Given the description of an element on the screen output the (x, y) to click on. 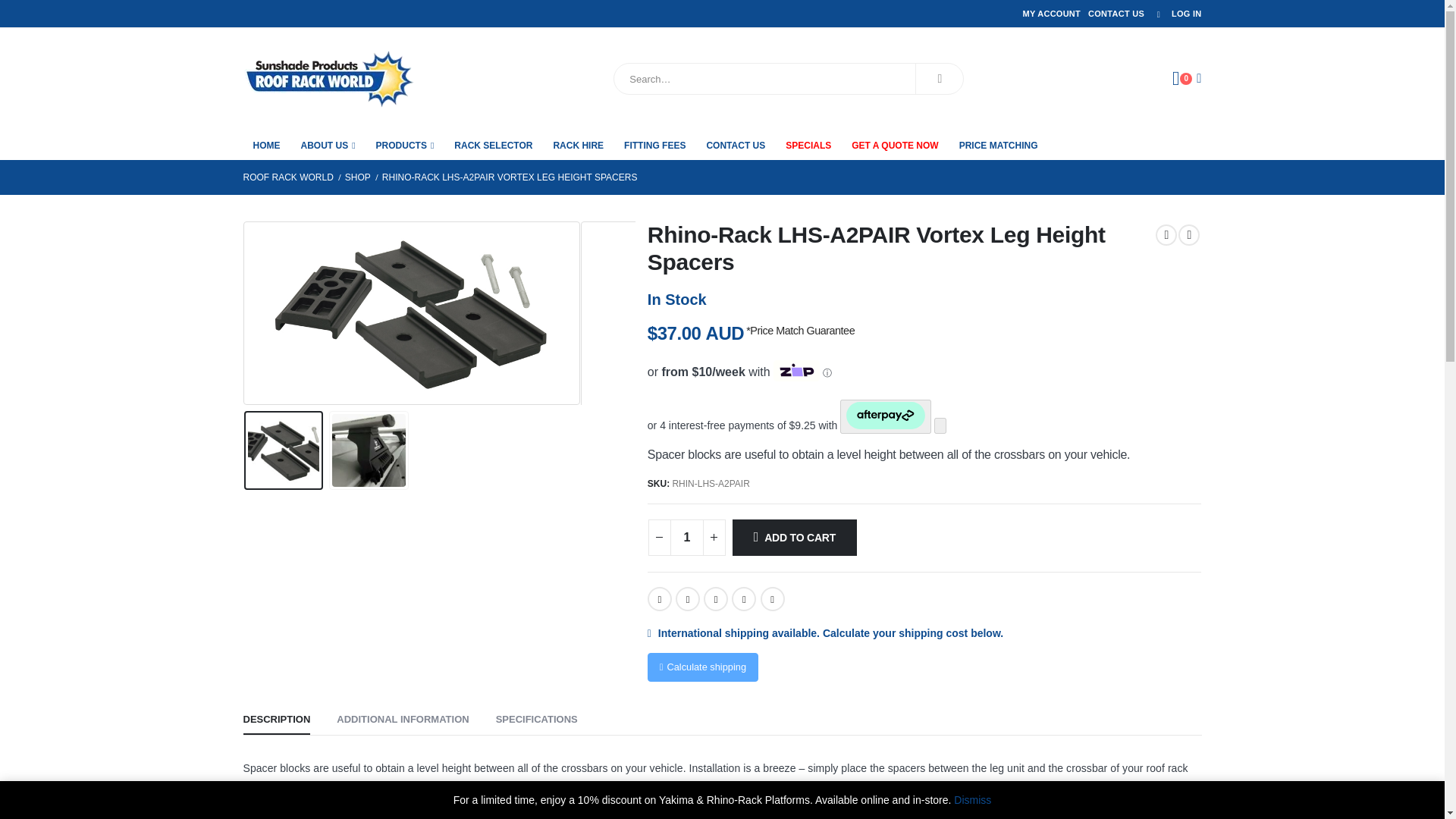
MY ACCOUNT (1050, 13)
Search (938, 78)
1 (686, 537)
Roof Rack World - SA's largest collection of roofracks (328, 78)
HOME (266, 144)
LOG IN (1174, 13)
CONTACT US (1116, 13)
ABOUT US (328, 144)
PRODUCTS (405, 144)
